Given the description of an element on the screen output the (x, y) to click on. 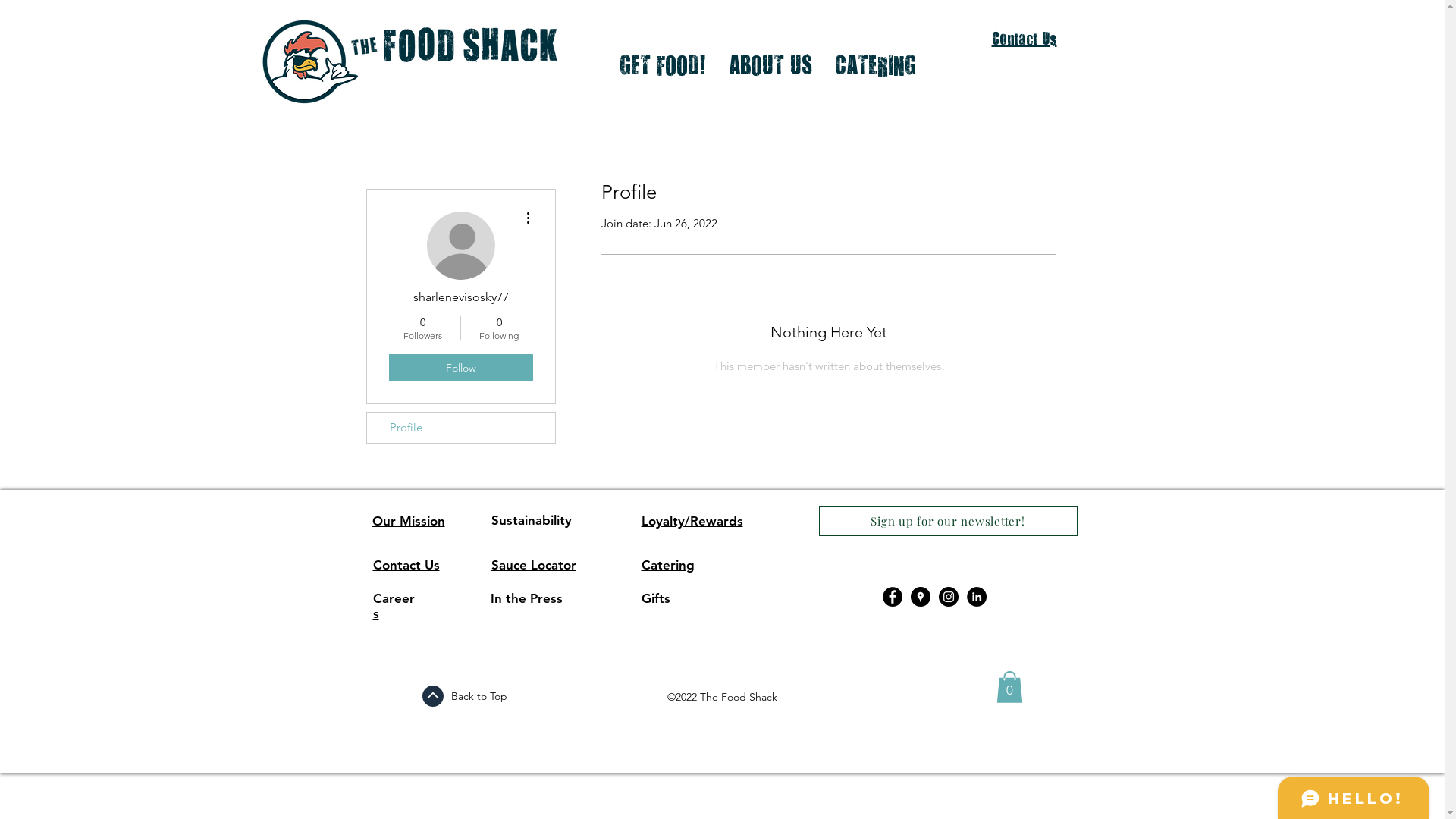
Follow Element type: text (460, 367)
In the Press Element type: text (525, 597)
Catering Element type: text (667, 564)
Contact Us Element type: text (1024, 39)
Contact Us Element type: text (406, 564)
Sauce Locator Element type: text (533, 564)
Our Mission Element type: text (407, 520)
CATERING Element type: text (875, 64)
Back to Top Element type: text (478, 695)
0
Following Element type: text (499, 328)
0 Element type: text (1009, 686)
Loyalty/Rewards Element type: text (692, 520)
0
Followers Element type: text (421, 328)
GET FOOD! Element type: text (662, 64)
Sustainability Element type: text (531, 519)
Careers Element type: text (393, 605)
Gifts Element type: text (655, 597)
ABOUT US Element type: text (770, 64)
Sign up for our newsletter! Element type: text (948, 520)
Profile Element type: text (461, 427)
